Given the description of an element on the screen output the (x, y) to click on. 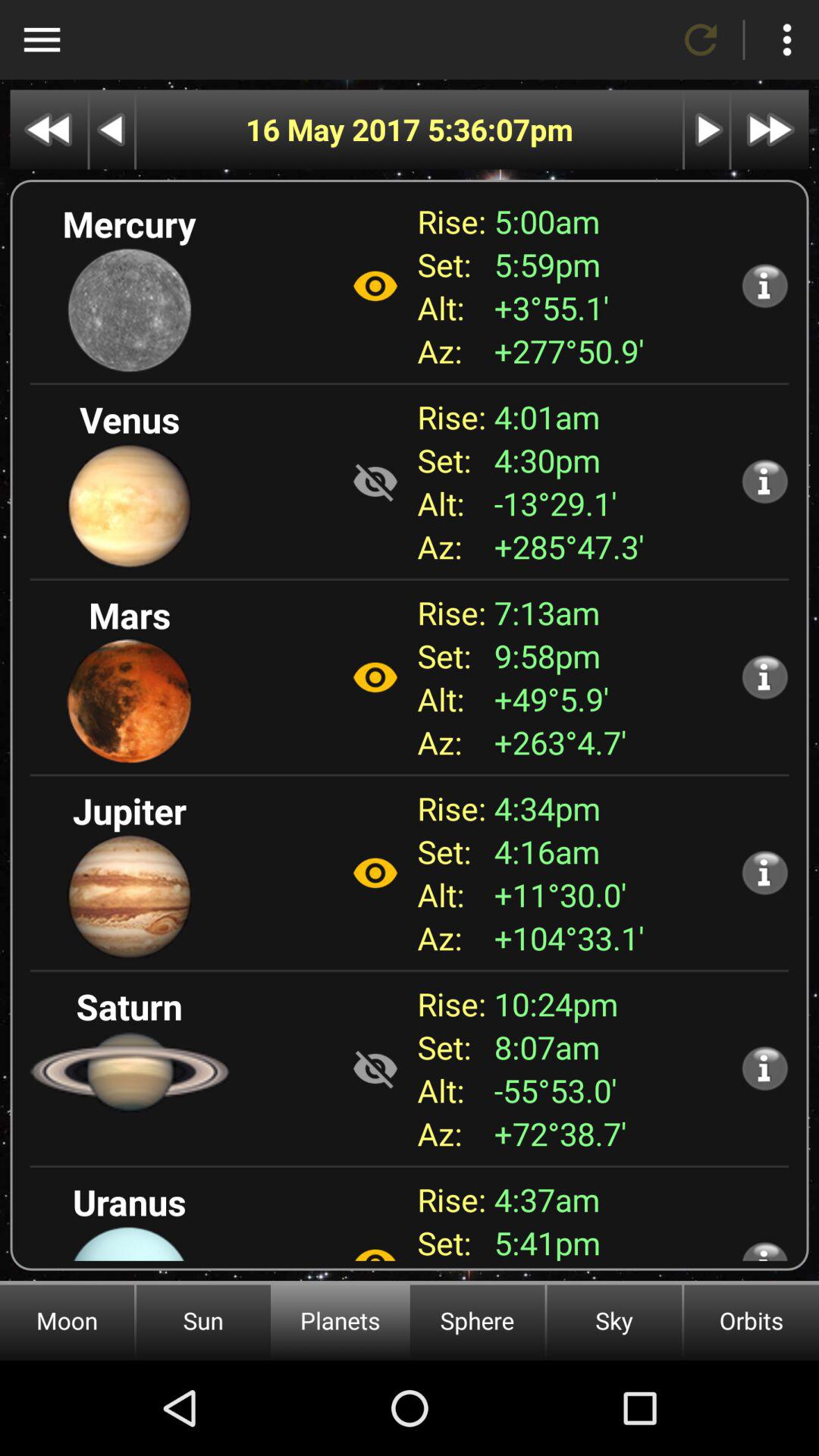
refresh app (700, 39)
